Given the description of an element on the screen output the (x, y) to click on. 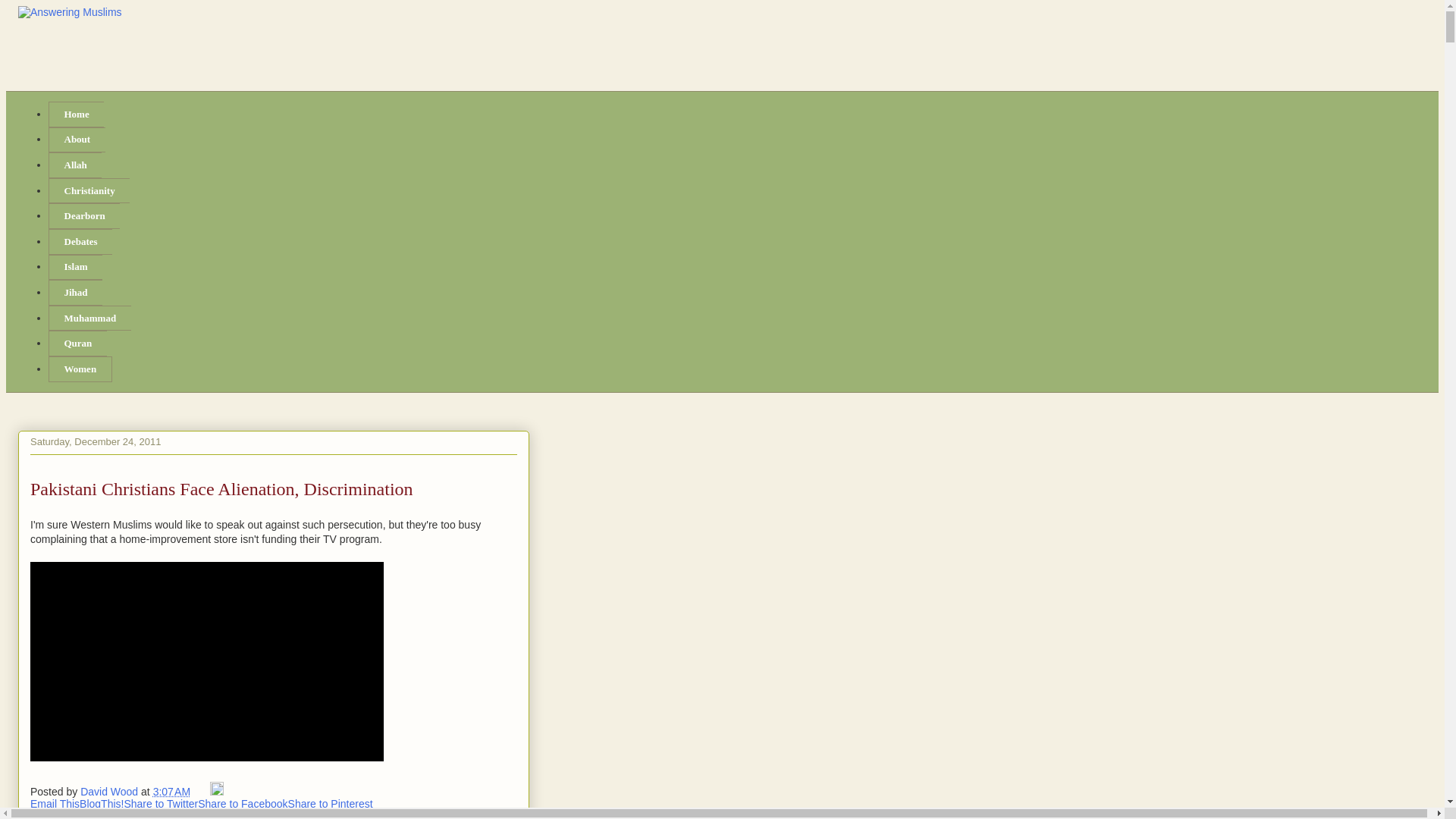
author profile (110, 791)
Muhammad (89, 318)
David Wood (110, 791)
Jihad (74, 292)
Pakistan (86, 814)
BlogThis! (101, 803)
Share to Twitter (160, 803)
Share to Twitter (160, 803)
Share to Pinterest (330, 803)
permanent link (171, 791)
Email This (55, 803)
About (76, 140)
Edit Post (216, 791)
BlogThis! (101, 803)
Women (80, 369)
